Given the description of an element on the screen output the (x, y) to click on. 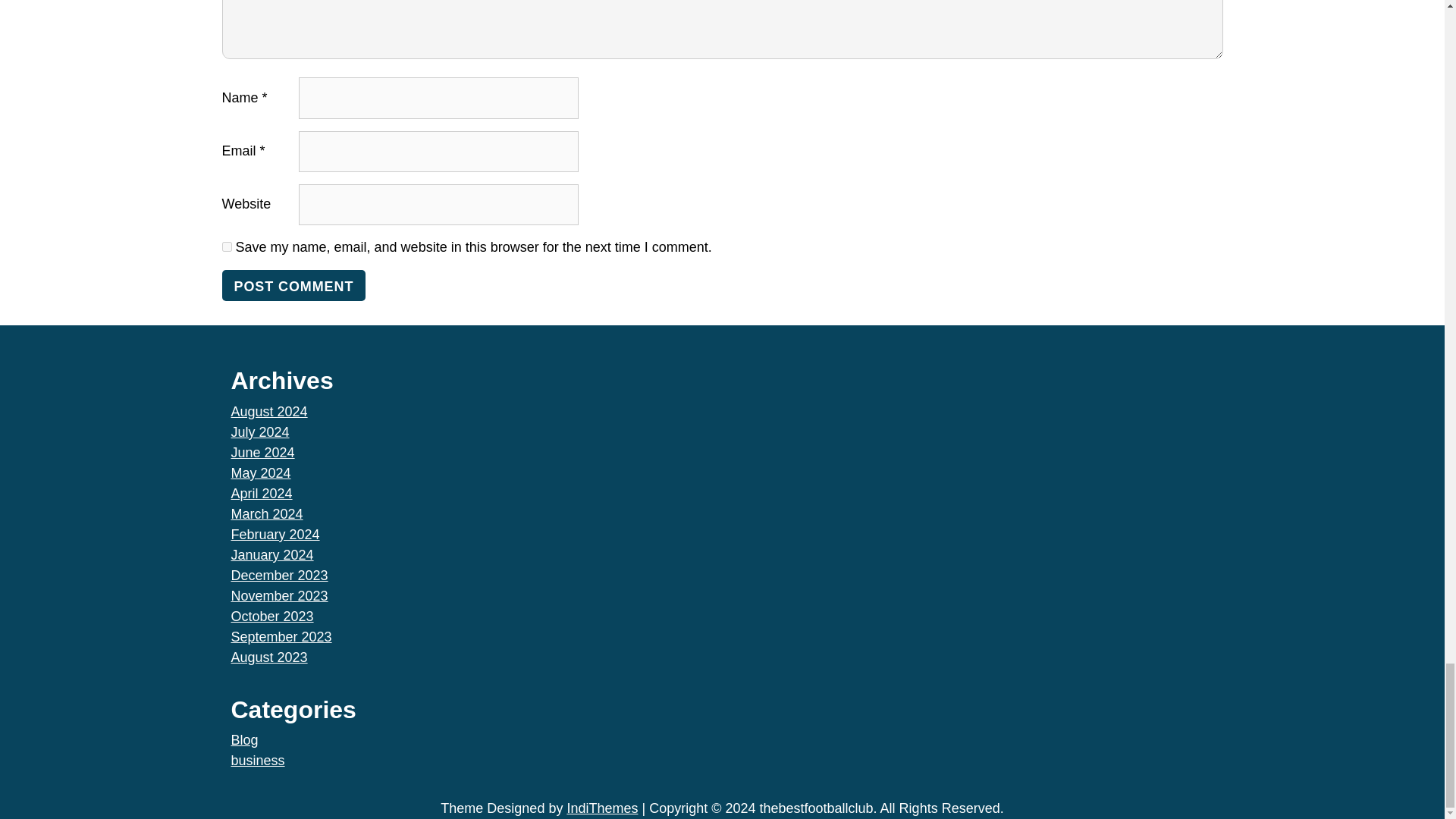
May 2024 (259, 473)
April 2024 (261, 493)
December 2023 (278, 575)
March 2024 (266, 513)
September 2023 (280, 636)
January 2024 (271, 554)
August 2023 (268, 657)
November 2023 (278, 595)
Blog (243, 739)
February 2024 (274, 534)
